Given the description of an element on the screen output the (x, y) to click on. 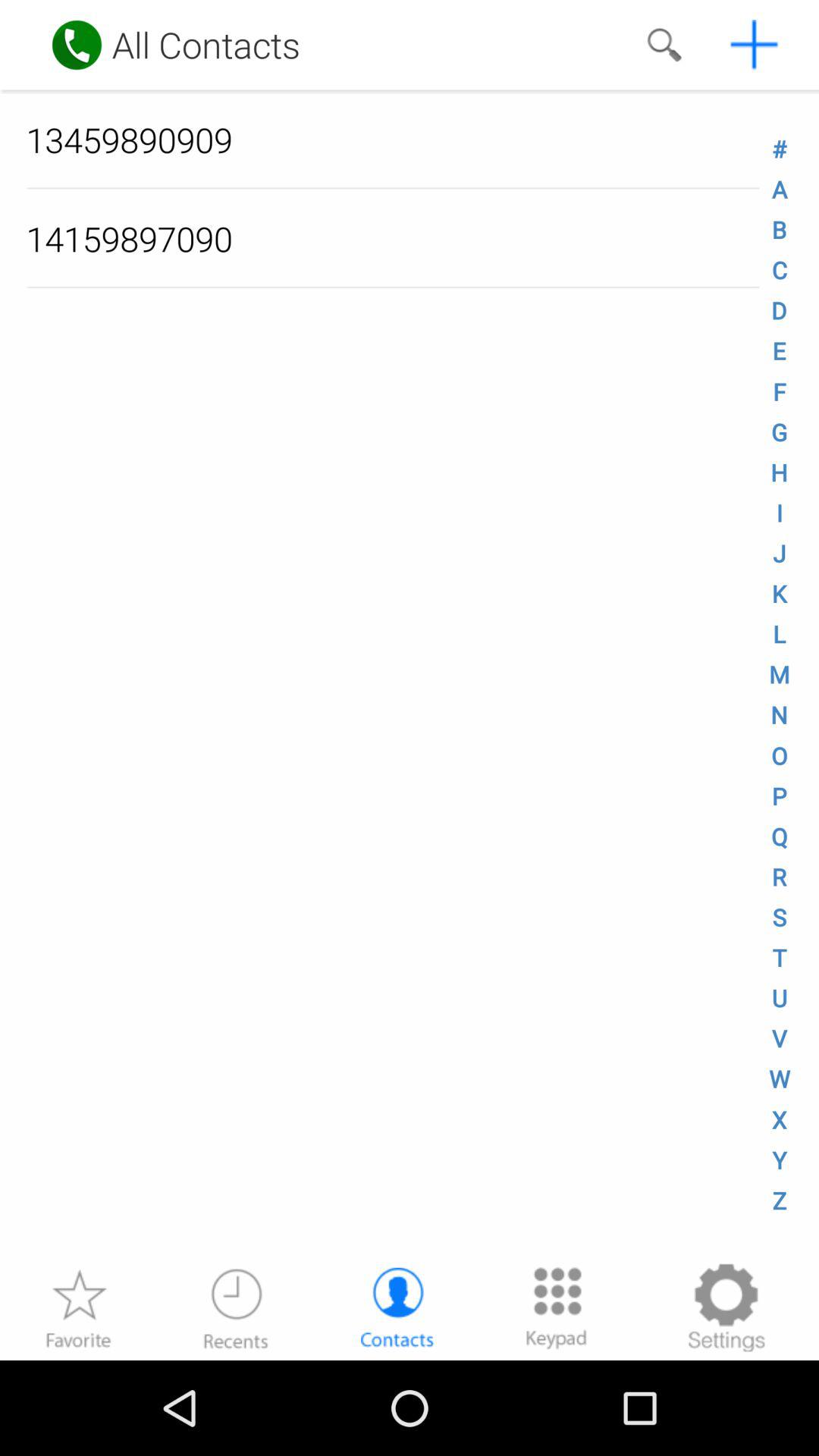
keypad button (556, 1307)
